Given the description of an element on the screen output the (x, y) to click on. 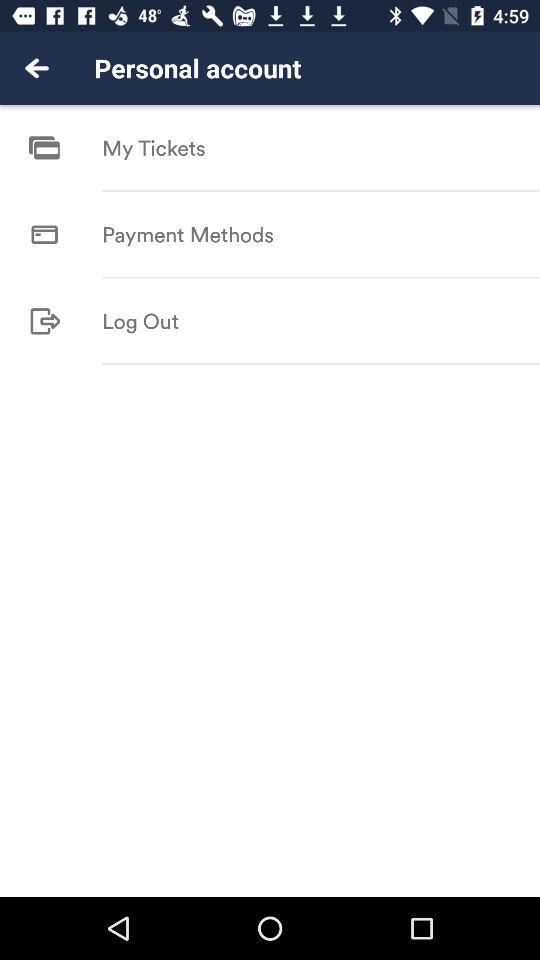
scroll to my tickets icon (153, 147)
